Given the description of an element on the screen output the (x, y) to click on. 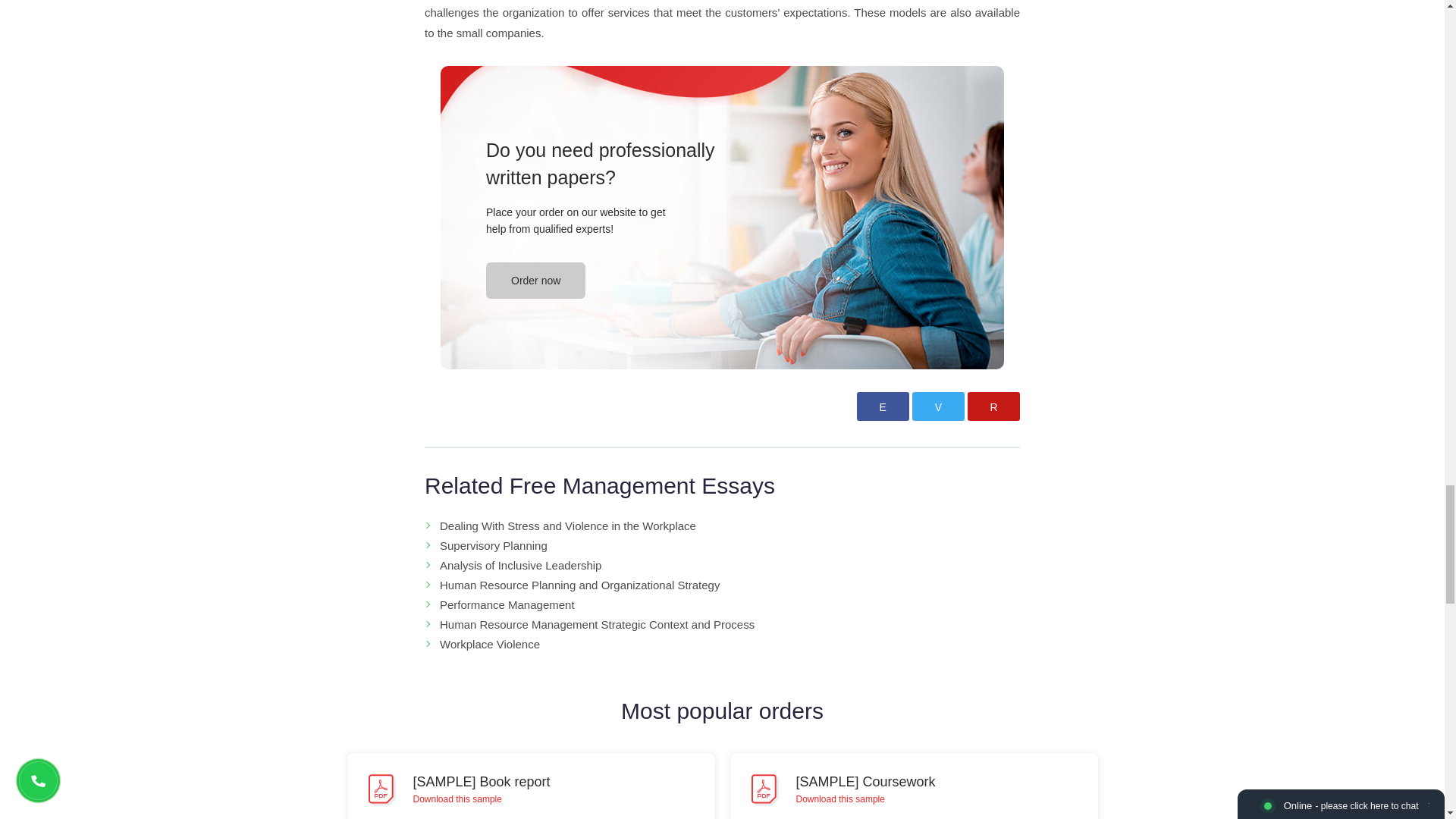
Share on Pinterest (994, 406)
Share on Twitter (937, 406)
Share on Facebook (882, 406)
